Given the description of an element on the screen output the (x, y) to click on. 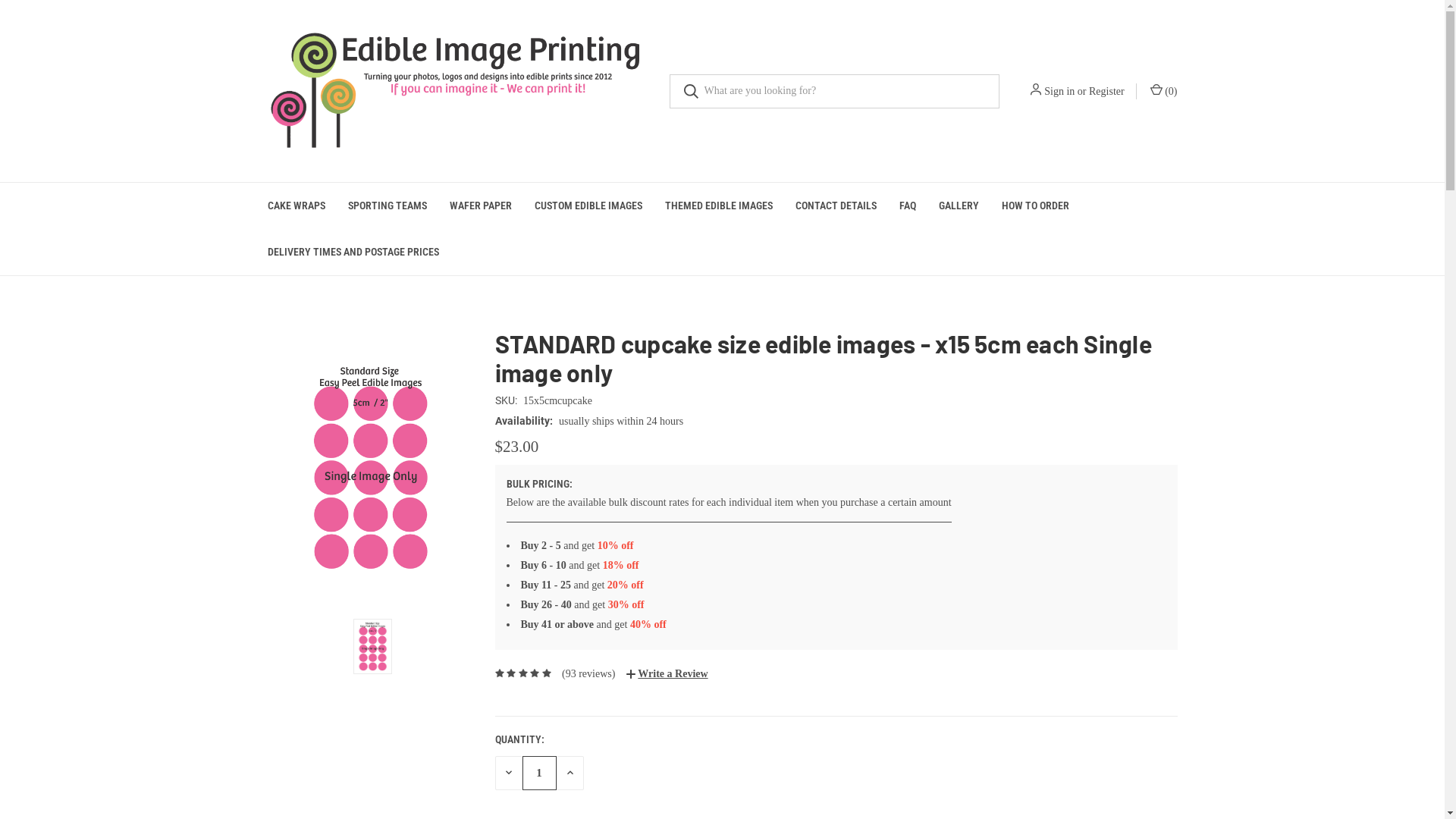
FAQ Element type: text (906, 205)
THEMED EDIBLE IMAGES Element type: text (718, 205)
INCREASE QUANTITY: Element type: text (569, 773)
SPORTING TEAMS Element type: text (387, 205)
WAFER PAPER Element type: text (480, 205)
(0) Element type: text (1162, 91)
Sign in Element type: text (1059, 91)
CONTACT DETAILS Element type: text (836, 205)
Register Element type: text (1106, 91)
GALLERY Element type: text (957, 205)
Write a Review Element type: text (667, 673)
DECREASE QUANTITY: Element type: text (507, 773)
HOW TO ORDER Element type: text (1035, 205)
Edible Image Printing Element type: hover (456, 91)
CAKE WRAPS Element type: text (296, 205)
DELIVERY TIMES AND POSTAGE PRICES Element type: text (353, 251)
CUSTOM EDIBLE IMAGES Element type: text (588, 205)
(93 reviews) Element type: text (588, 673)
